Given the description of an element on the screen output the (x, y) to click on. 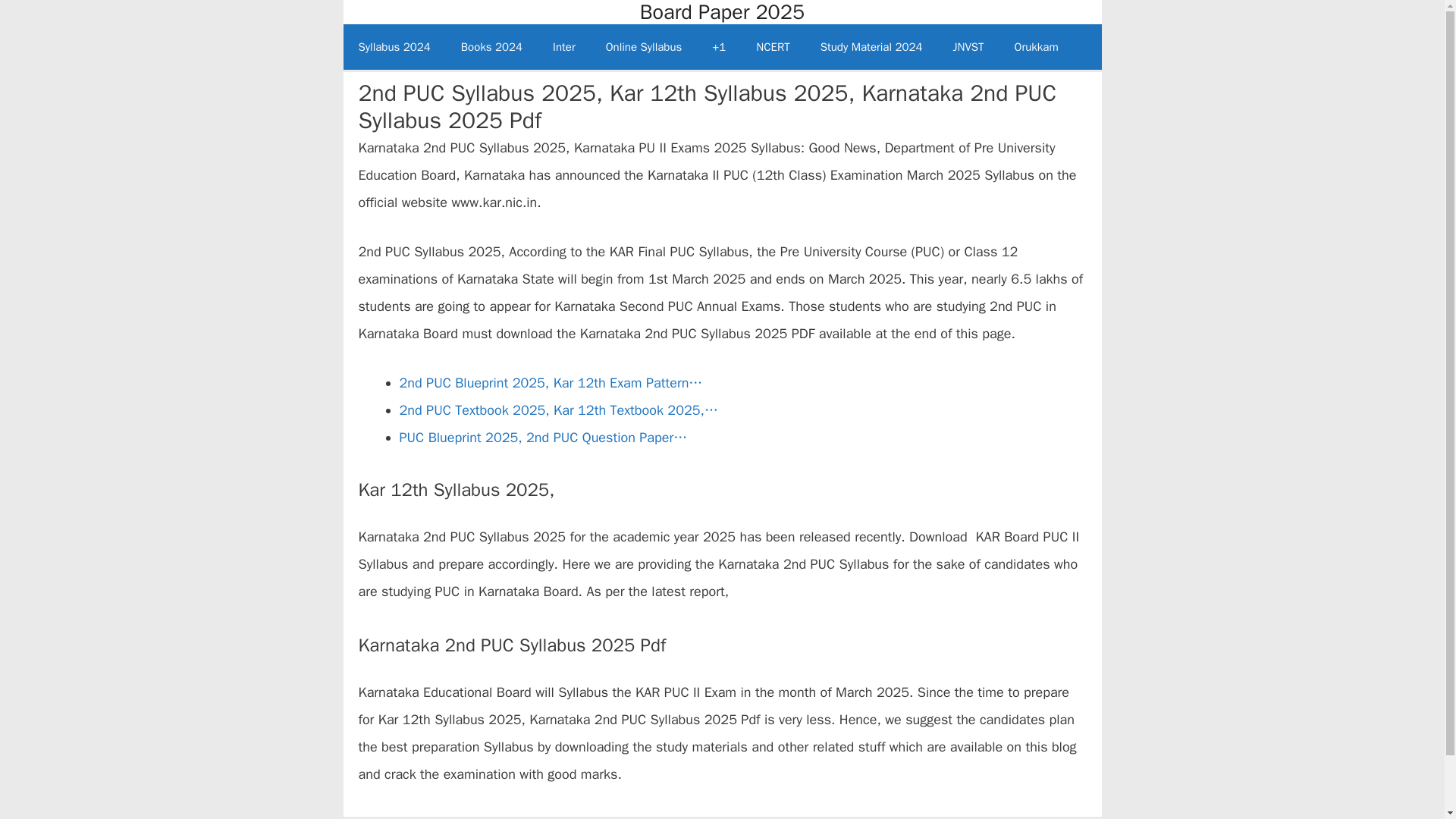
Board Paper 2025 (722, 12)
Online Syllabus (644, 46)
Study Material 2024 (871, 46)
Inter (564, 46)
Syllabus 2024 (393, 46)
NCERT (773, 46)
Books 2024 (491, 46)
Orukkam (1036, 46)
JNVST (967, 46)
